Given the description of an element on the screen output the (x, y) to click on. 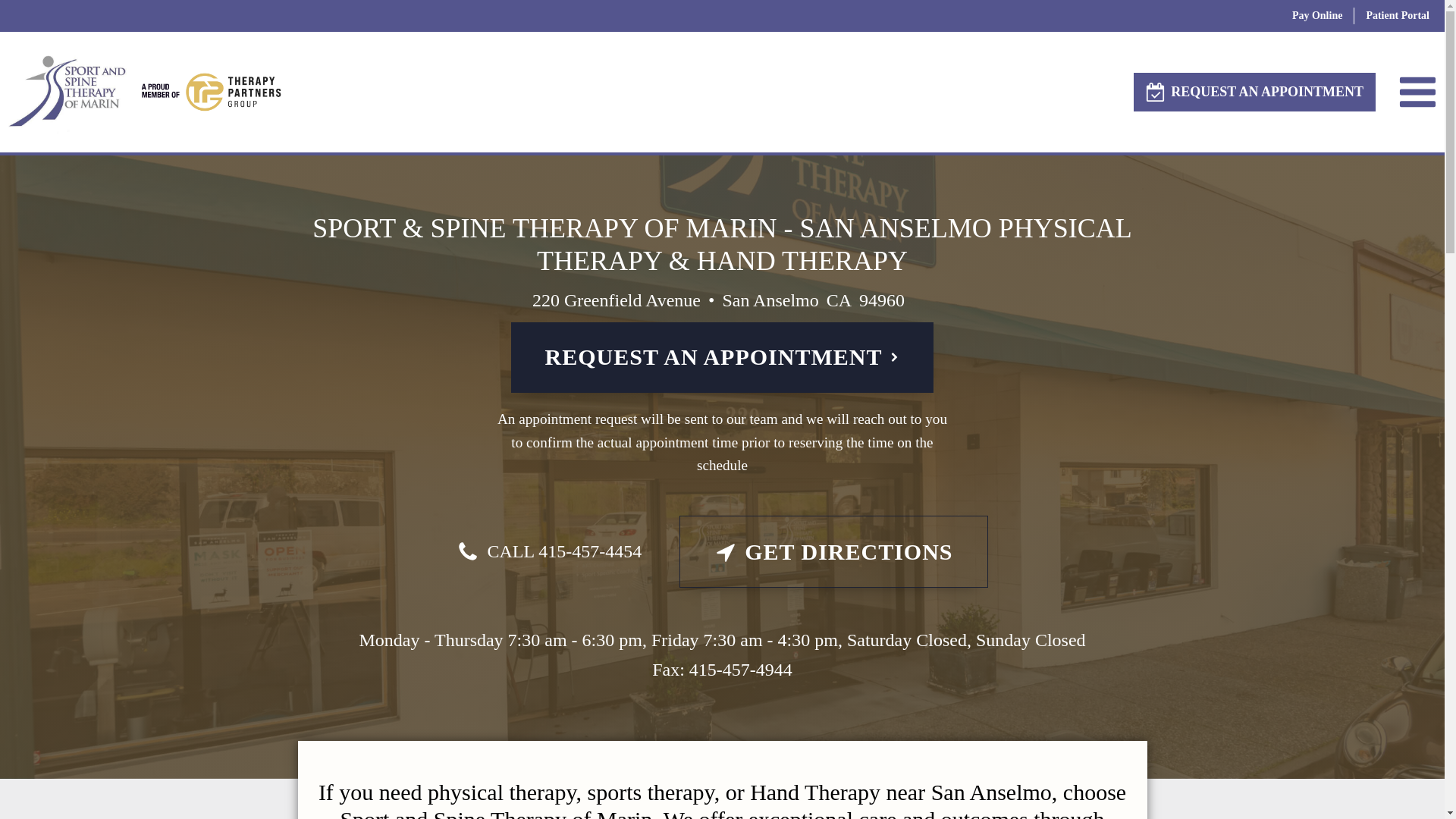
CALL 415-457-4454 (549, 551)
GET DIRECTIONS (833, 551)
REQUEST AN APPOINTMENT (722, 357)
Pay Online (1317, 15)
REQUEST AN APPOINTMENT (1254, 91)
Patient Portal (1397, 15)
